Given the description of an element on the screen output the (x, y) to click on. 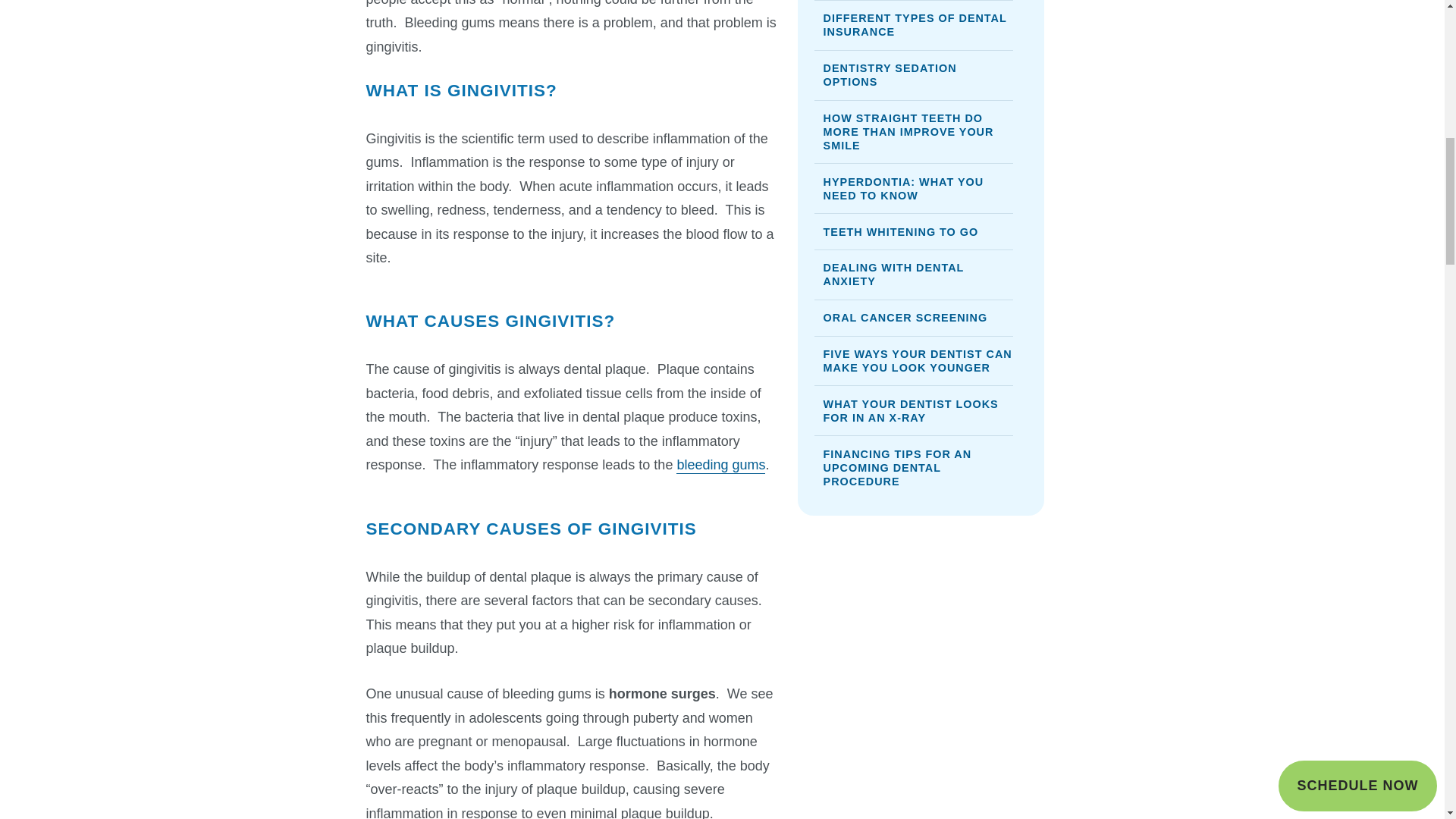
HOW STRAIGHT TEETH DO MORE THAN IMPROVE YOUR SMILE (913, 131)
FINANCING TIPS FOR AN UPCOMING DENTAL PROCEDURE (913, 466)
DEALING WITH DENTAL ANXIETY (913, 274)
FIVE WAYS YOUR DENTIST CAN MAKE YOU LOOK YOUNGER (913, 360)
DENTISTRY SEDATION OPTIONS (913, 74)
WHAT YOUR DENTIST LOOKS FOR IN AN X-RAY (913, 409)
ORAL CANCER SCREENING (913, 317)
bleeding gums (721, 465)
TEETH WHITENING TO GO (913, 230)
DIFFERENT TYPES OF DENTAL INSURANCE (913, 24)
HYPERDONTIA: WHAT YOU NEED TO KNOW (913, 187)
